Given the description of an element on the screen output the (x, y) to click on. 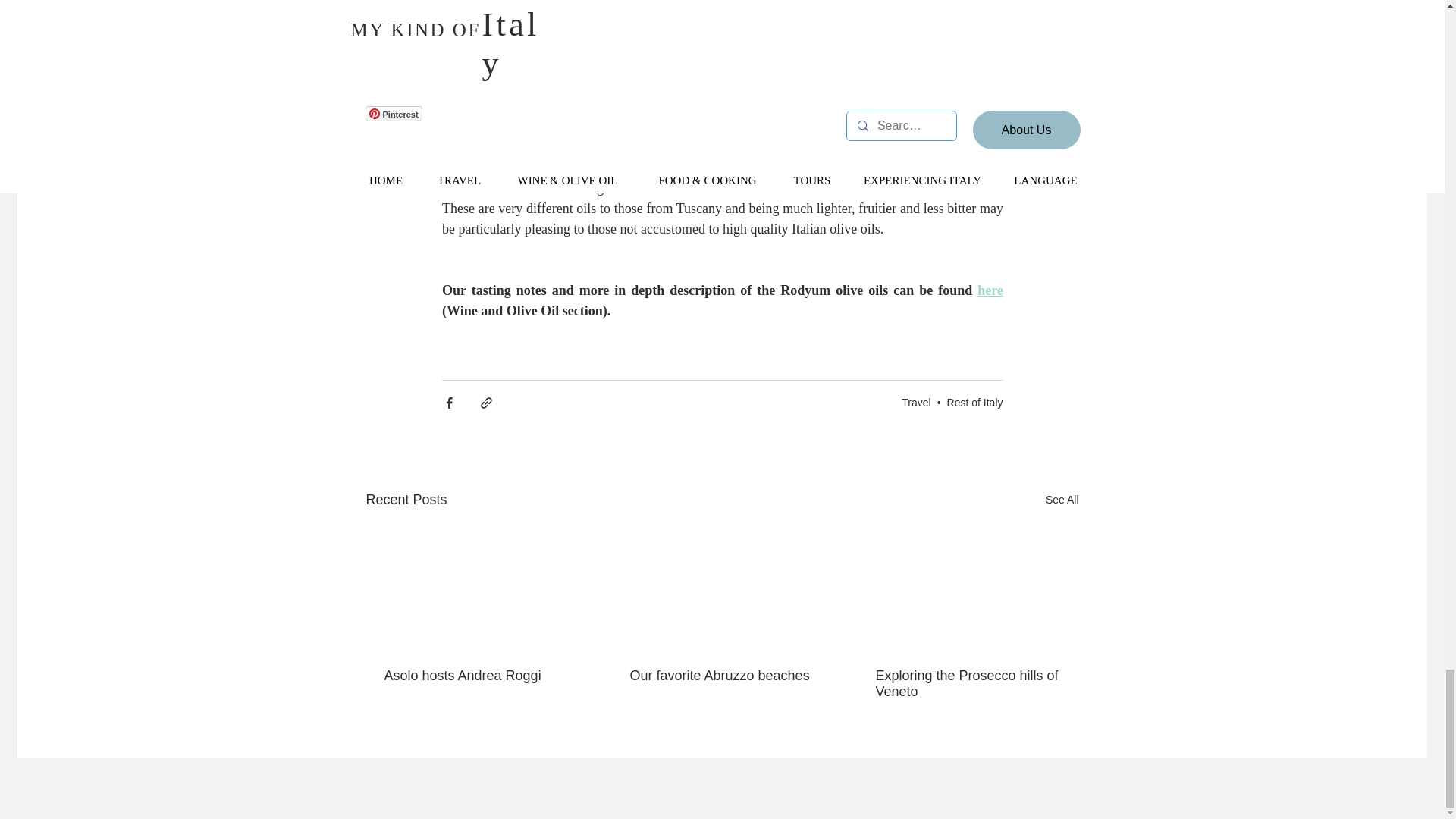
here (989, 290)
